Given the description of an element on the screen output the (x, y) to click on. 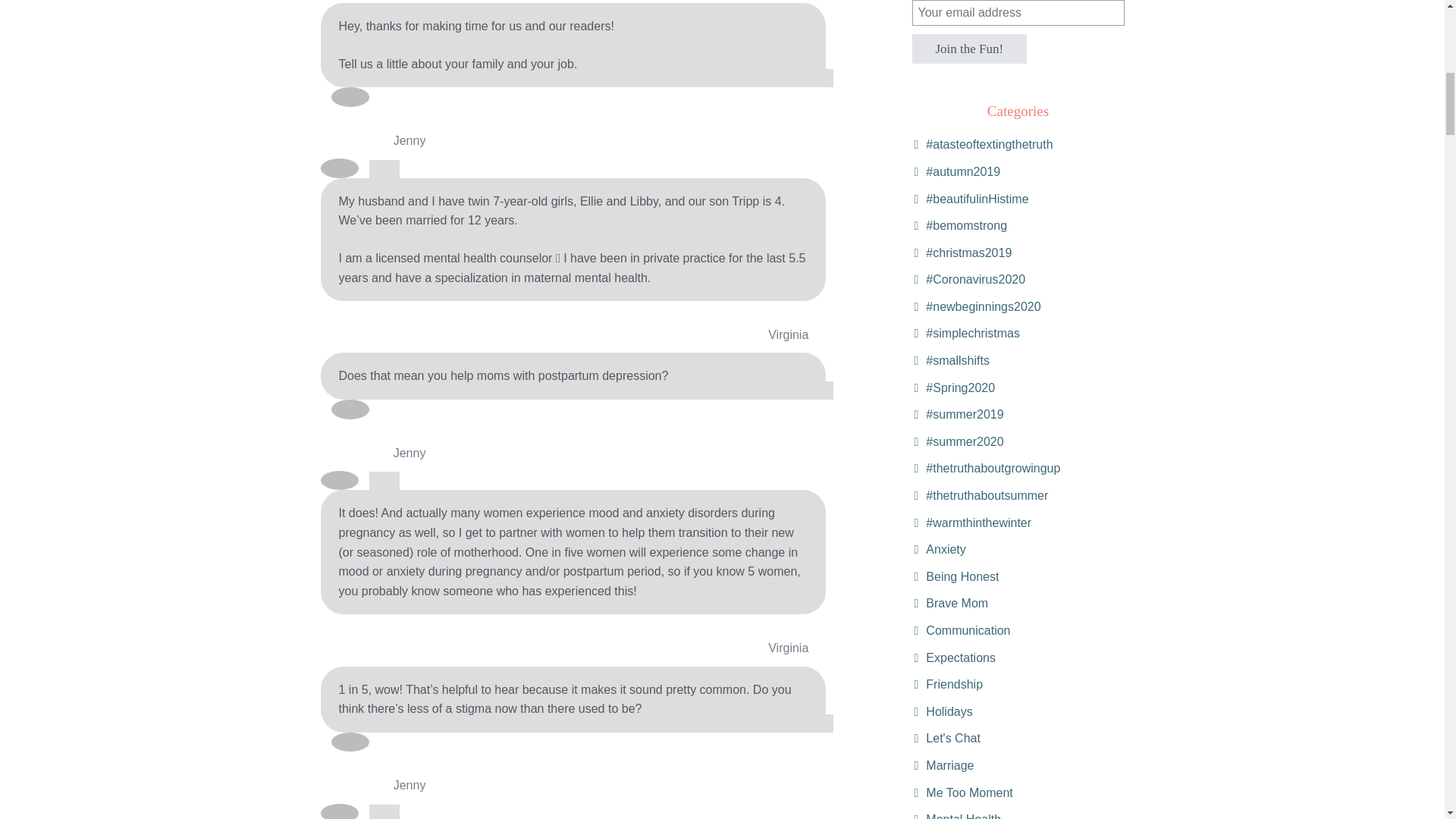
Join the Fun! (968, 48)
